Given the description of an element on the screen output the (x, y) to click on. 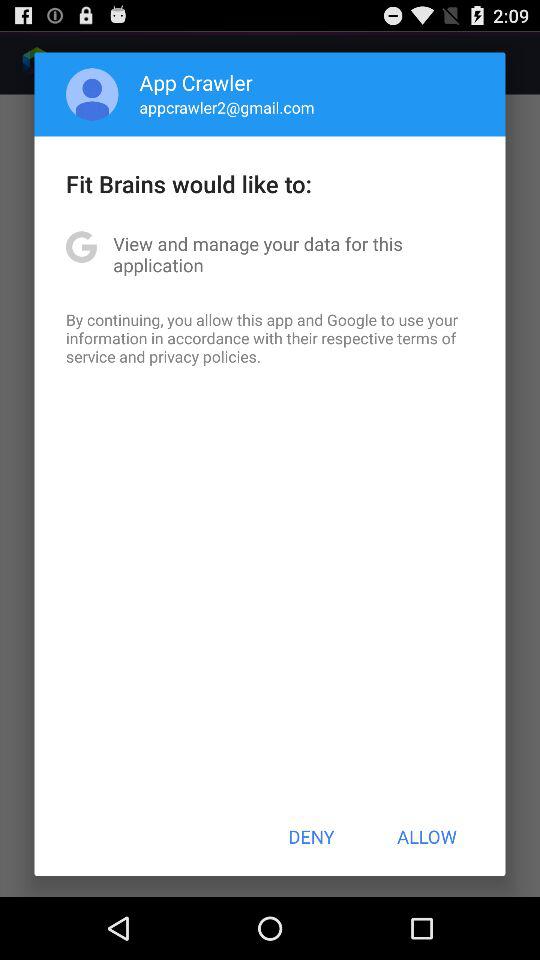
select item below fit brains would (269, 254)
